Given the description of an element on the screen output the (x, y) to click on. 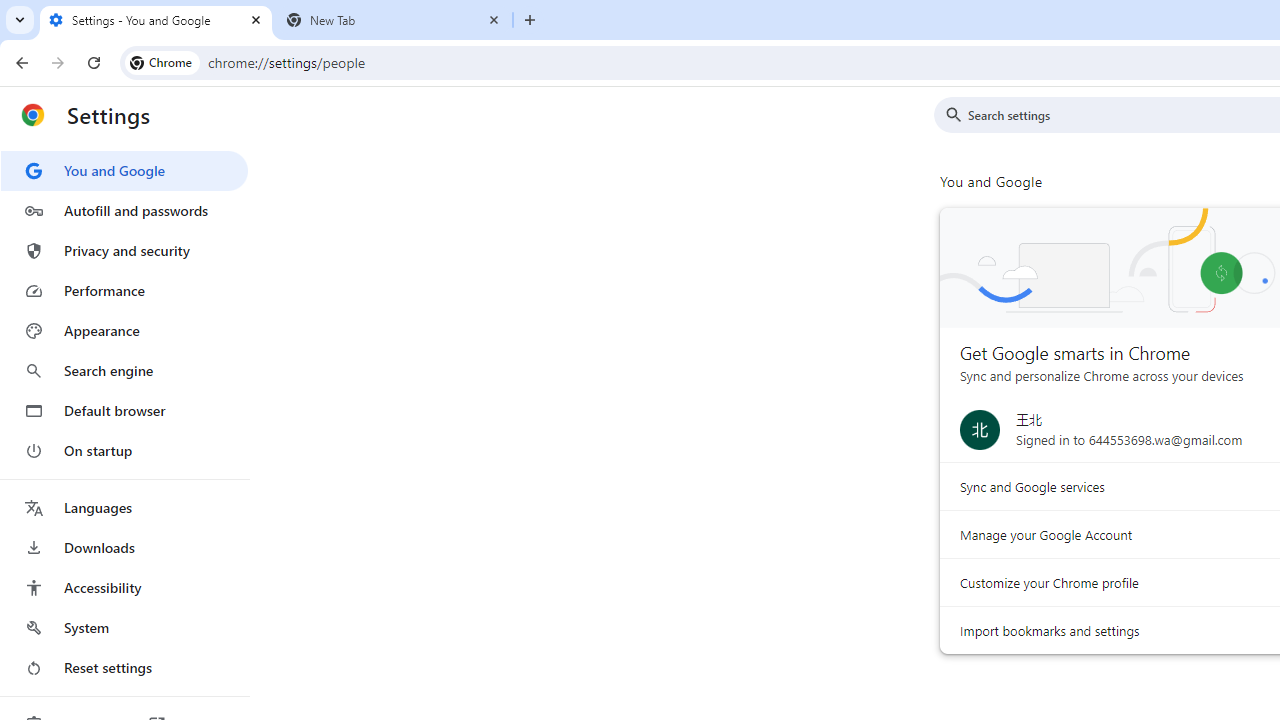
Downloads (124, 547)
Autofill and passwords (124, 210)
New Tab (394, 20)
Search engine (124, 370)
On startup (124, 450)
Default browser (124, 410)
Accessibility (124, 587)
